Given the description of an element on the screen output the (x, y) to click on. 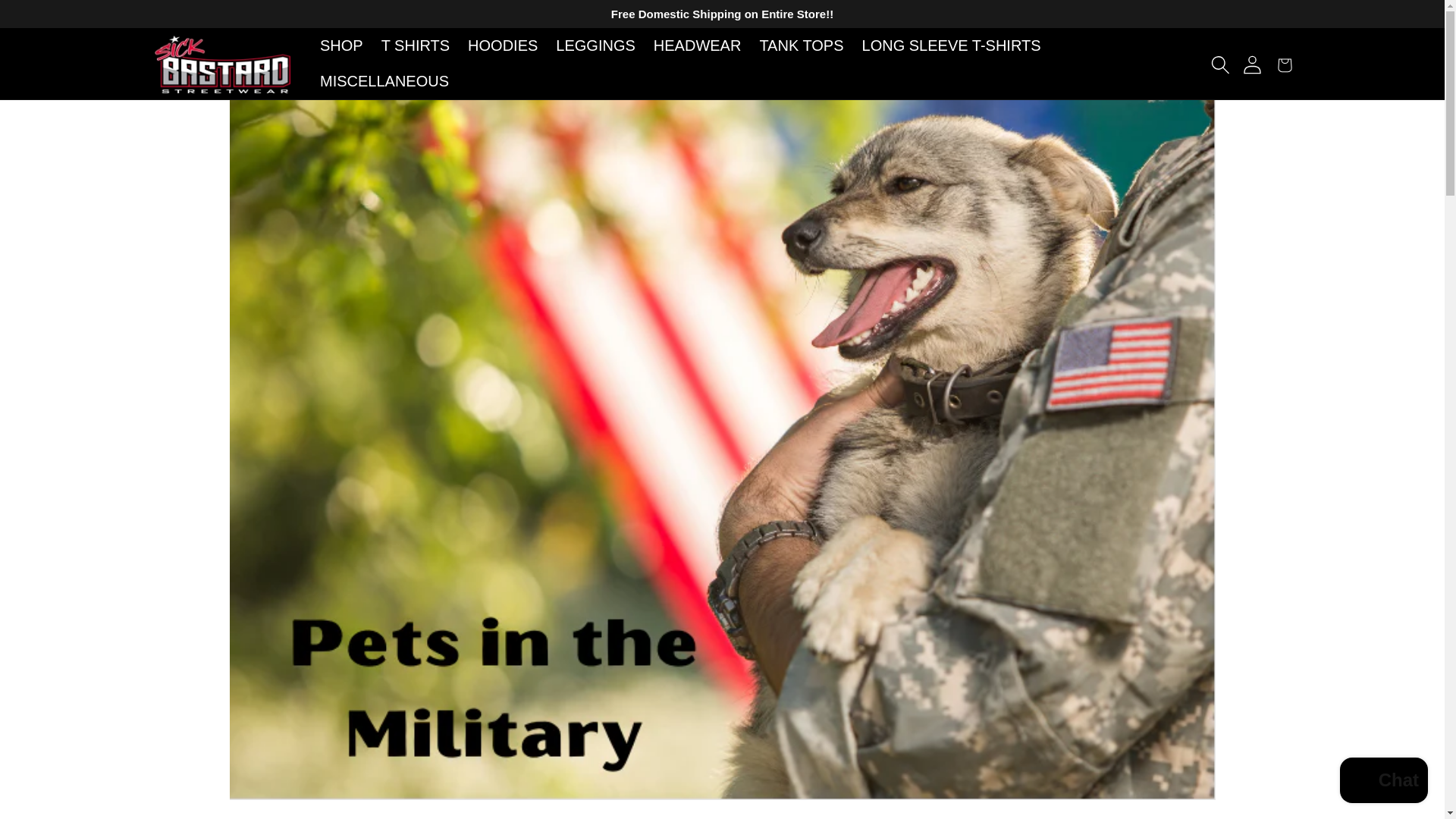
T SHIRTS (415, 45)
Cart (1284, 64)
HOODIES (502, 45)
TANK TOPS (800, 45)
MISCELLANEOUS (384, 81)
HEADWEAR (698, 45)
Log in (1252, 64)
SHOP (341, 45)
Shopify online store chat (1383, 781)
LEGGINGS (595, 45)
